Given the description of an element on the screen output the (x, y) to click on. 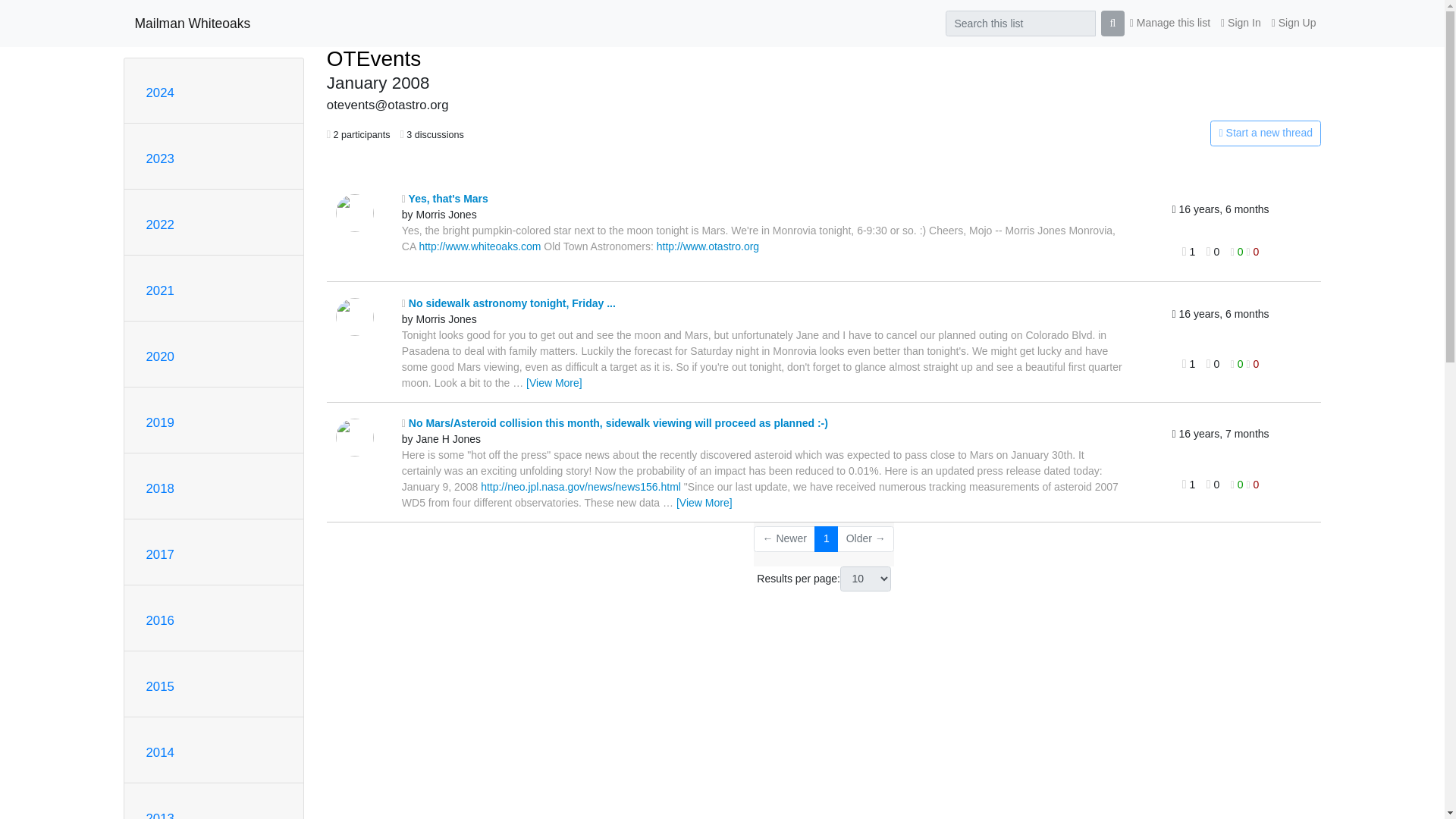
You must be logged-in to vote. (1238, 363)
Saturday, 19 January 2008 17:38:11 (1220, 209)
2022 (159, 224)
You must be logged-in to vote. (1252, 363)
You must be logged-in to vote. (1238, 484)
You must be logged-in to create a thread. (1162, 133)
2024 (159, 92)
You must be logged-in to vote. (1252, 484)
2023 (159, 158)
You must be logged-in to vote. (1238, 251)
